Given the description of an element on the screen output the (x, y) to click on. 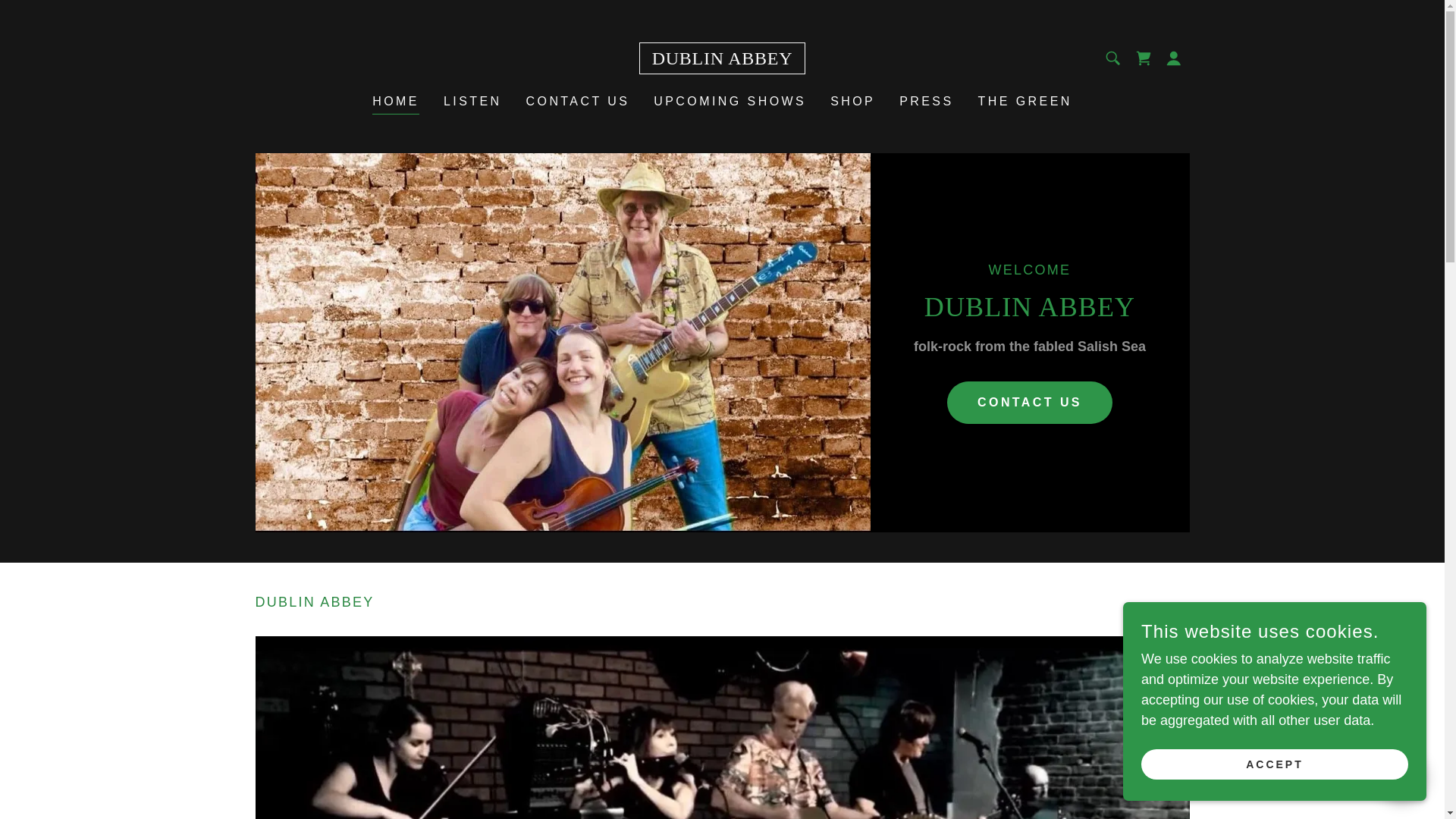
DUBLIN ABBEY (722, 59)
HOME (395, 103)
SHOP (852, 101)
CONTACT US (577, 101)
UPCOMING SHOWS (729, 101)
PRESS (926, 101)
DUBLIN ABBEY (722, 59)
THE GREEN (1025, 101)
LISTEN (472, 101)
